Given the description of an element on the screen output the (x, y) to click on. 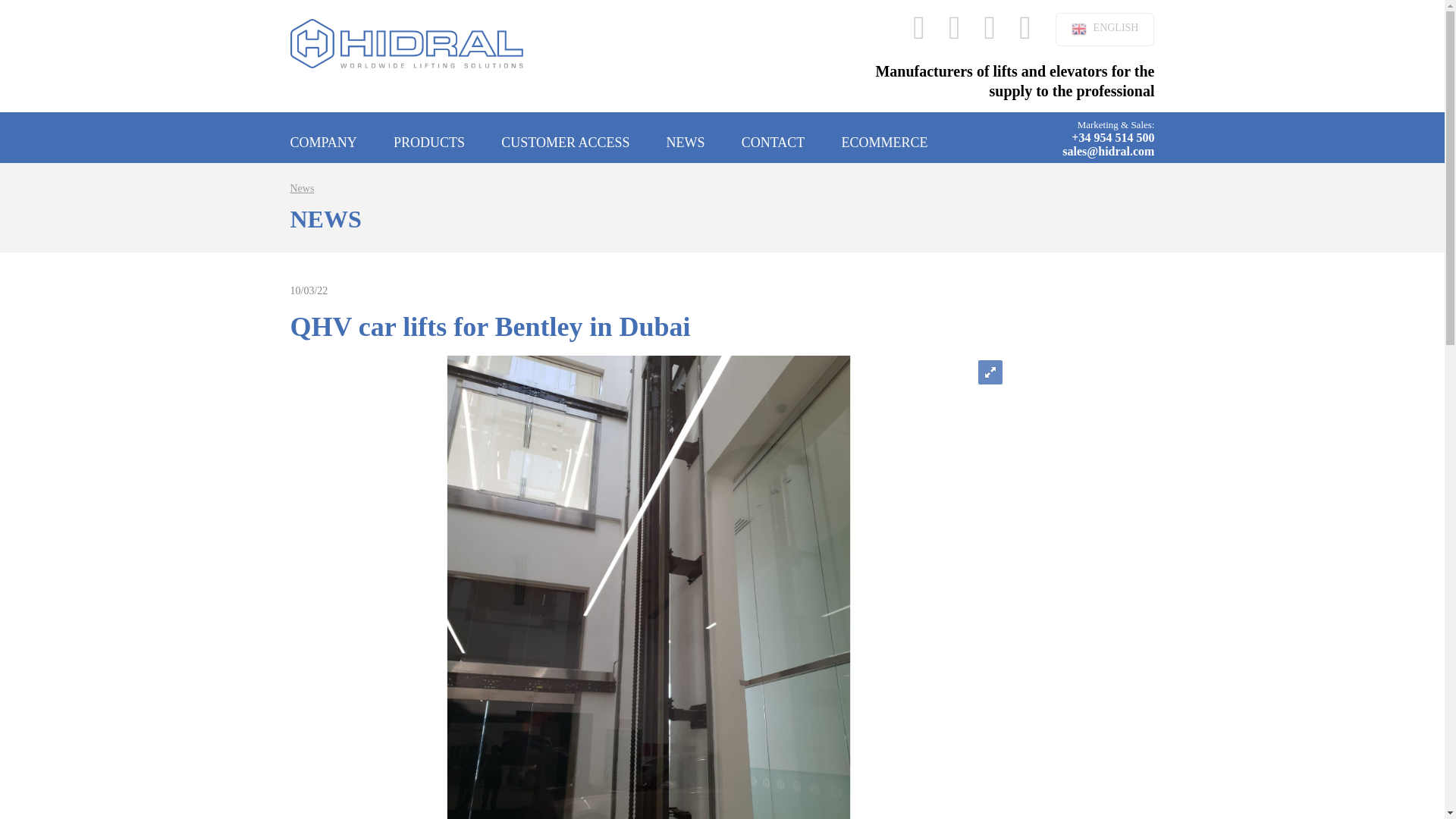
ECOMMERCE (884, 137)
CONTACT (773, 137)
CUSTOMER ACCESS (564, 137)
COMPANY (322, 137)
News (301, 188)
PRODUCTS (428, 137)
ENGLISH (1104, 29)
